Given the description of an element on the screen output the (x, y) to click on. 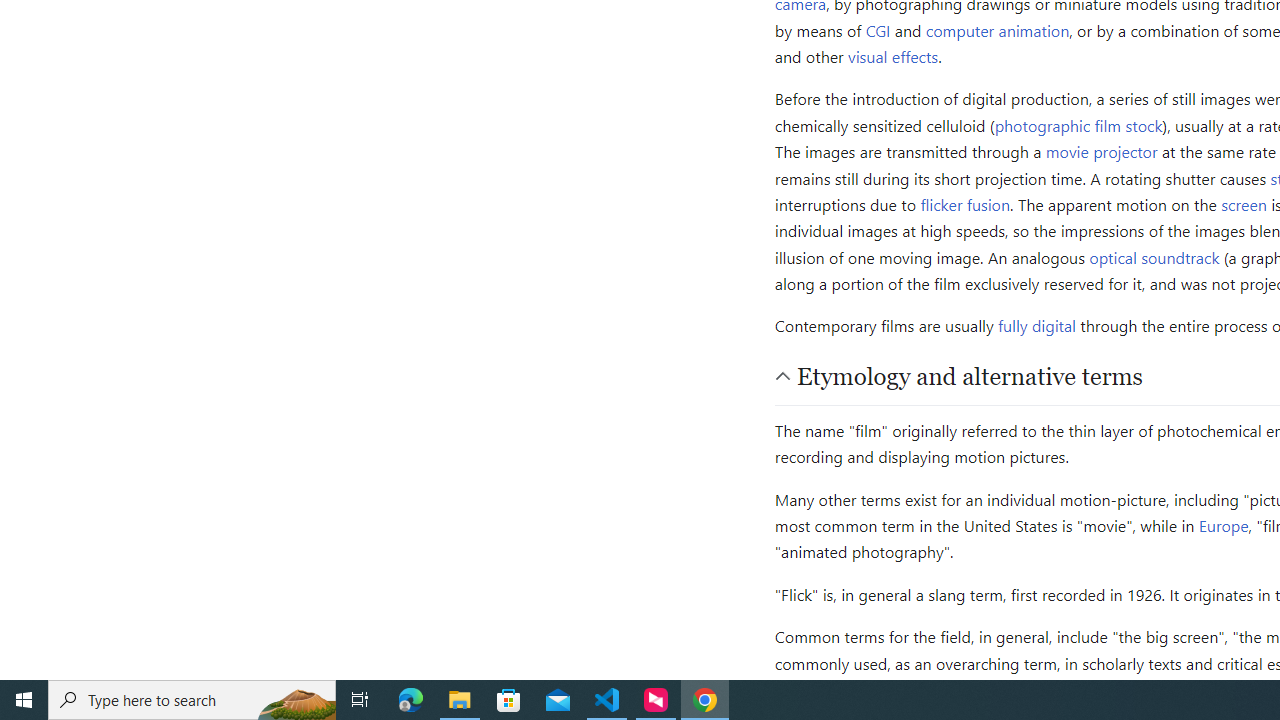
fully digital (1037, 325)
screen (1244, 203)
flicker fusion (965, 203)
visual effects (893, 55)
Europe (1223, 525)
CGI (877, 29)
optical soundtrack (1154, 256)
computer animation (997, 29)
movie projector (1101, 151)
stock (1144, 124)
photographic film (1058, 124)
